Given the description of an element on the screen output the (x, y) to click on. 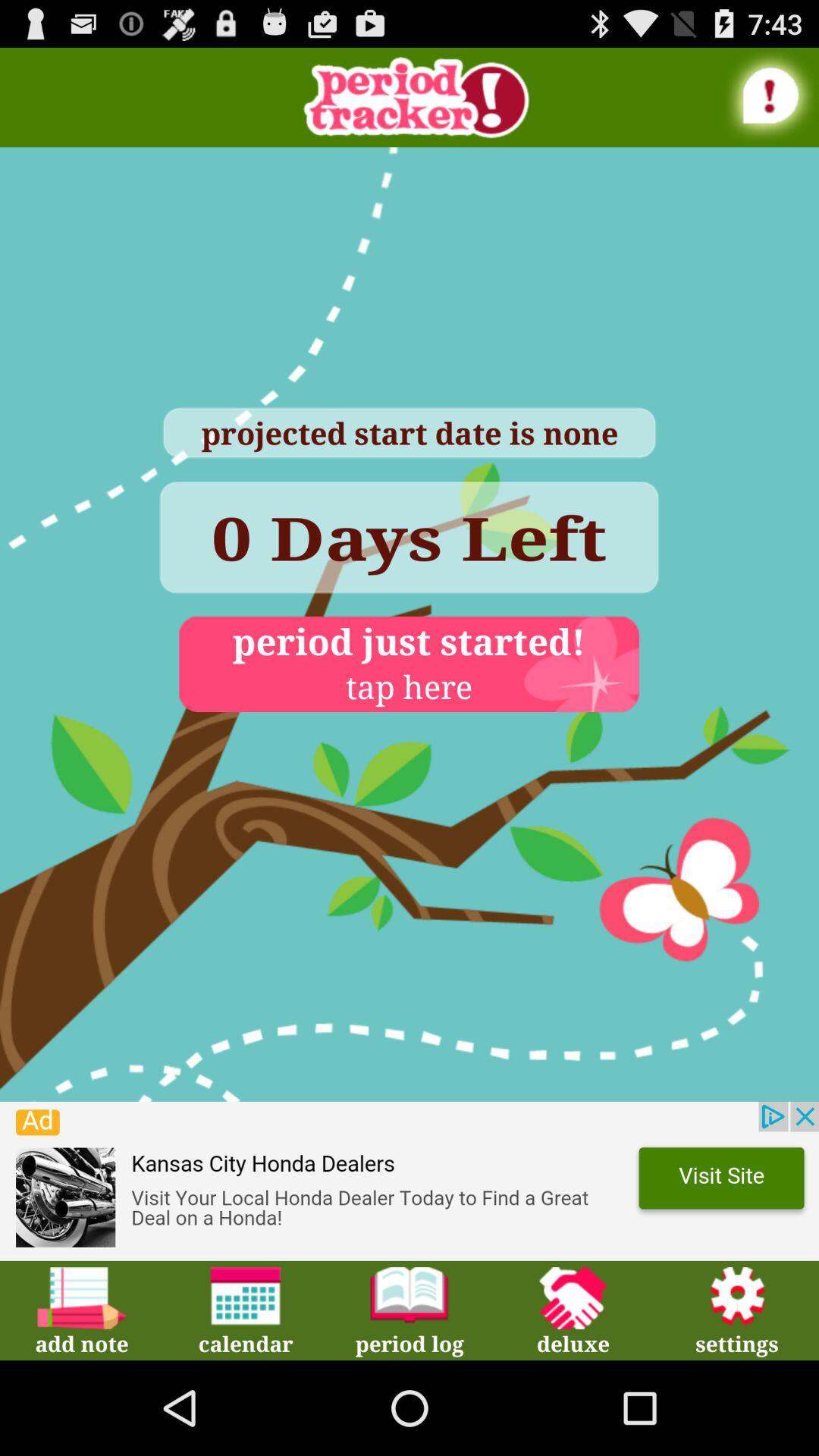
see alert (771, 95)
